Given the description of an element on the screen output the (x, y) to click on. 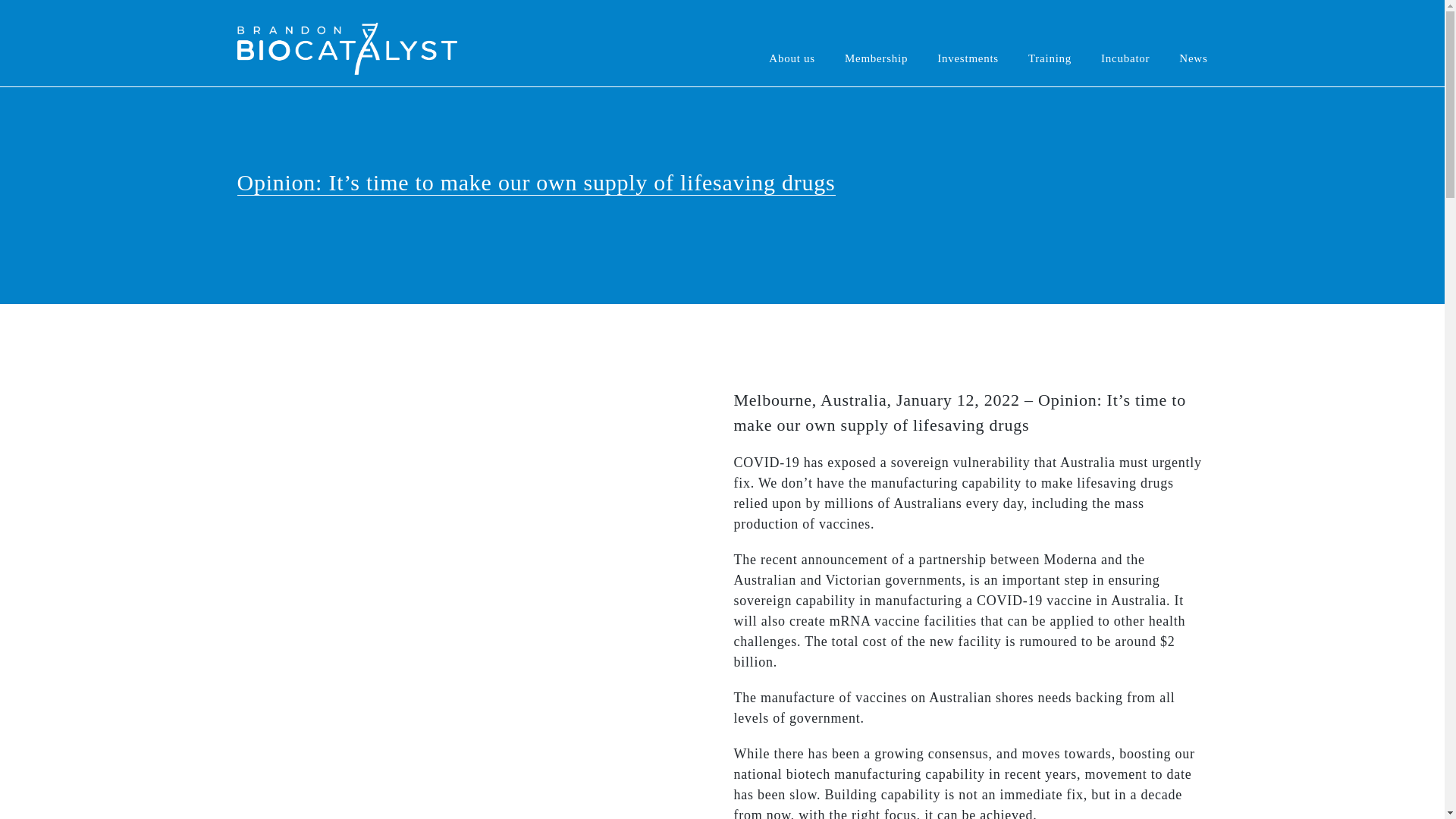
Membership (875, 42)
Incubator (1125, 42)
About us (798, 42)
Training (1049, 42)
News (1186, 42)
Investments (968, 42)
